Given the description of an element on the screen output the (x, y) to click on. 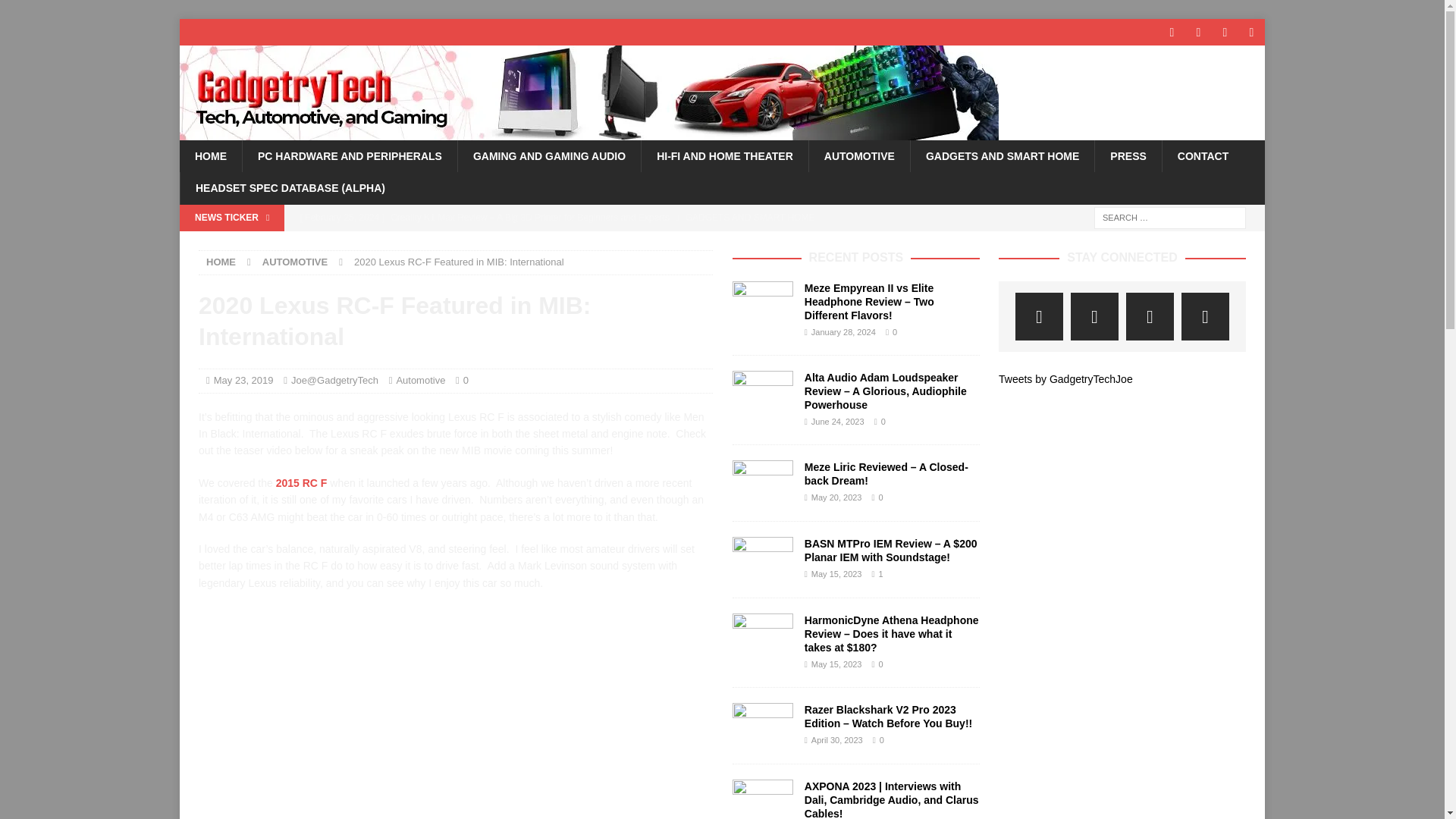
HI-FI AND HOME THEATER (724, 155)
AUTOMOTIVE (859, 155)
Automotive (420, 379)
GADGETS AND SMART HOME (1002, 155)
May 23, 2019 (243, 379)
GAMING AND GAMING AUDIO (548, 155)
PC HARDWARE AND PERIPHERALS (349, 155)
AUTOMOTIVE (294, 261)
Search (56, 11)
PRESS (1127, 155)
HOME (210, 155)
CONTACT (1202, 155)
2015 RC F (301, 482)
HOME (220, 261)
GadgetryTech.com (588, 132)
